Given the description of an element on the screen output the (x, y) to click on. 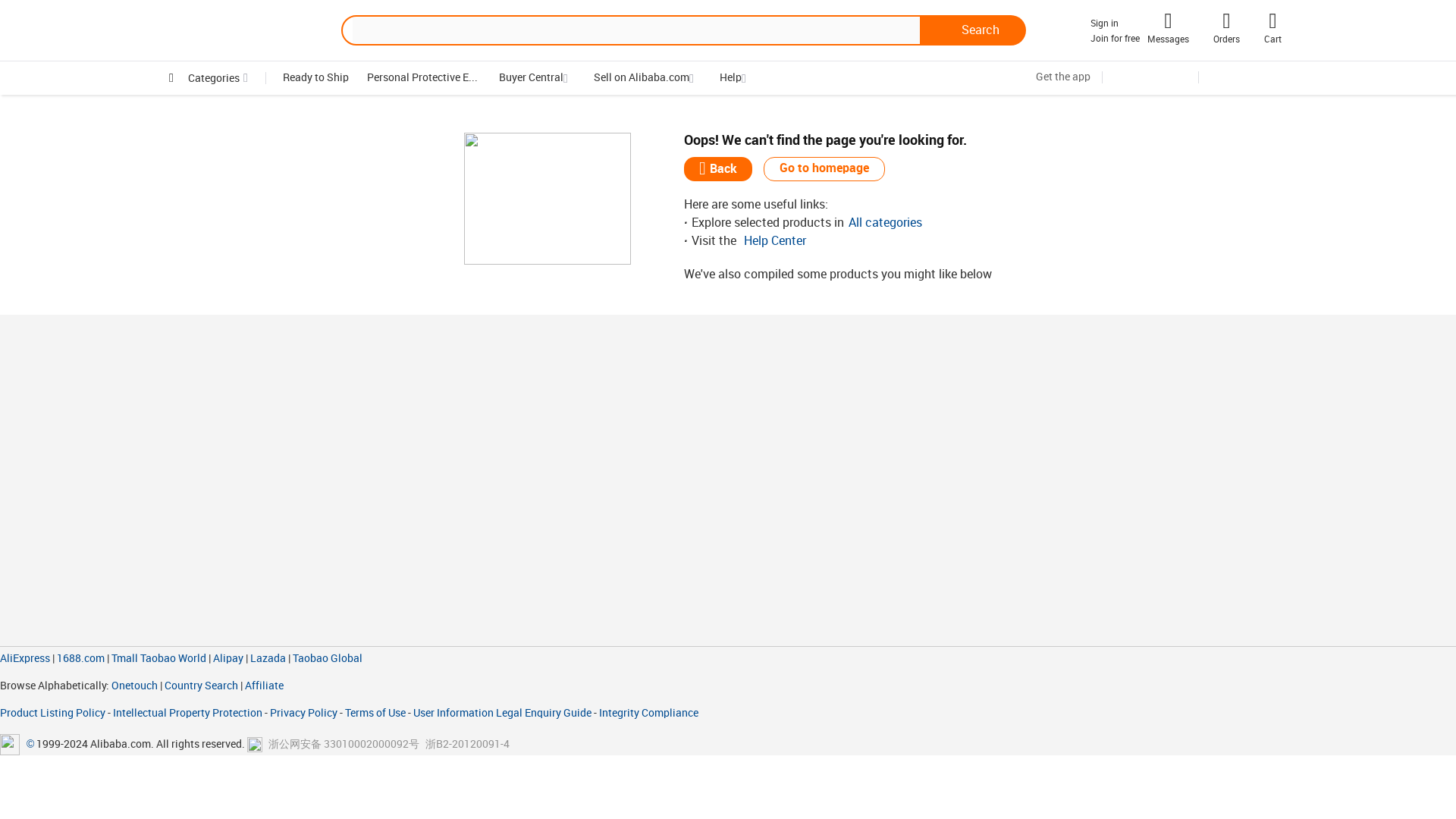
Alibaba.com (242, 30)
Lazada (267, 658)
Sell on Alibaba.com (641, 78)
Product Listing Policy (53, 713)
Integrity Compliance (648, 713)
Search (973, 30)
Cart (1272, 39)
Search (973, 30)
Onetouch (134, 685)
Join for free (1115, 39)
